Given the description of an element on the screen output the (x, y) to click on. 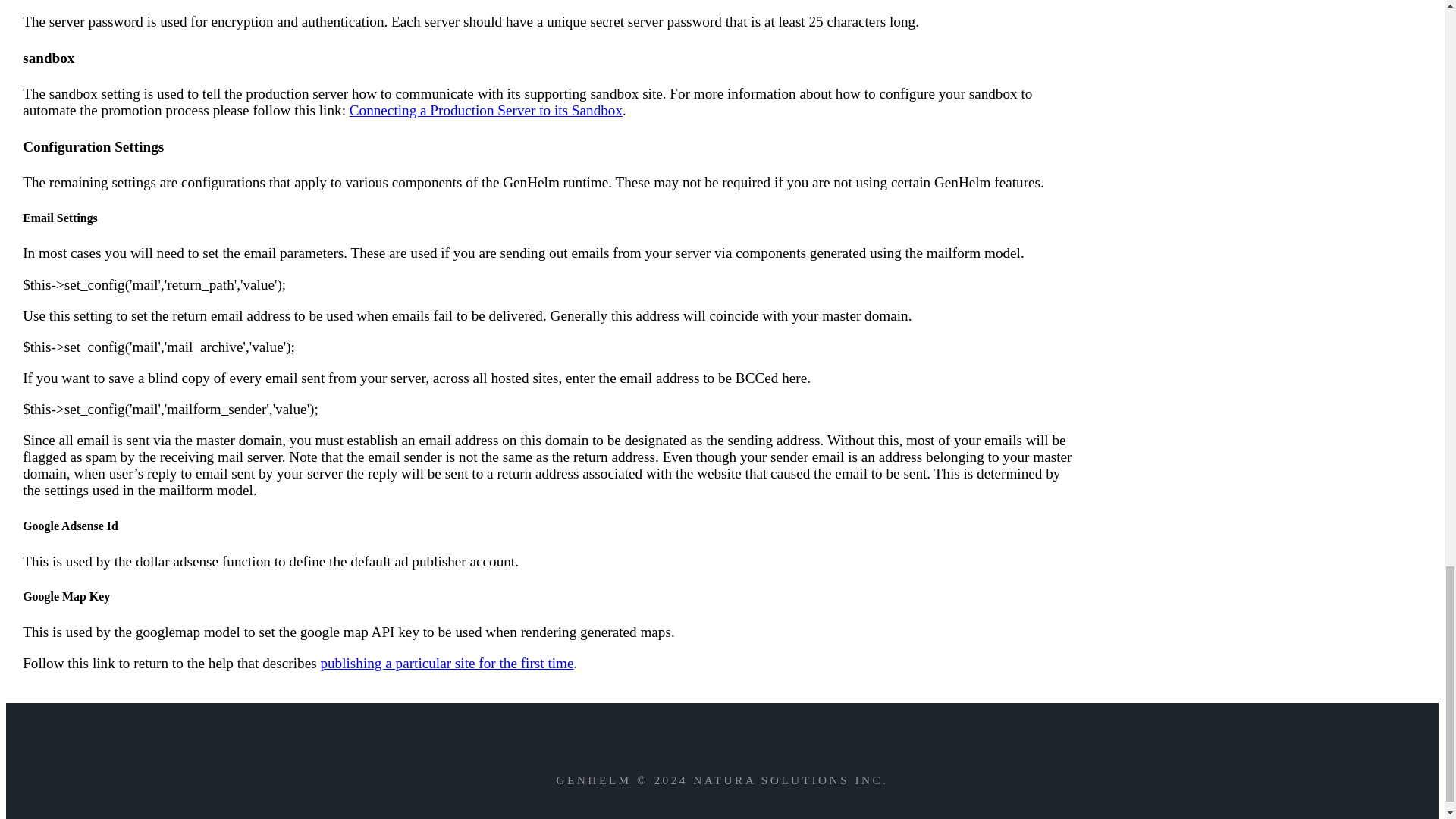
Connecting a Production Server to its Sandbox (486, 109)
Learn About Staging Options (486, 109)
publishing a particular site for the first time (446, 662)
